Given the description of an element on the screen output the (x, y) to click on. 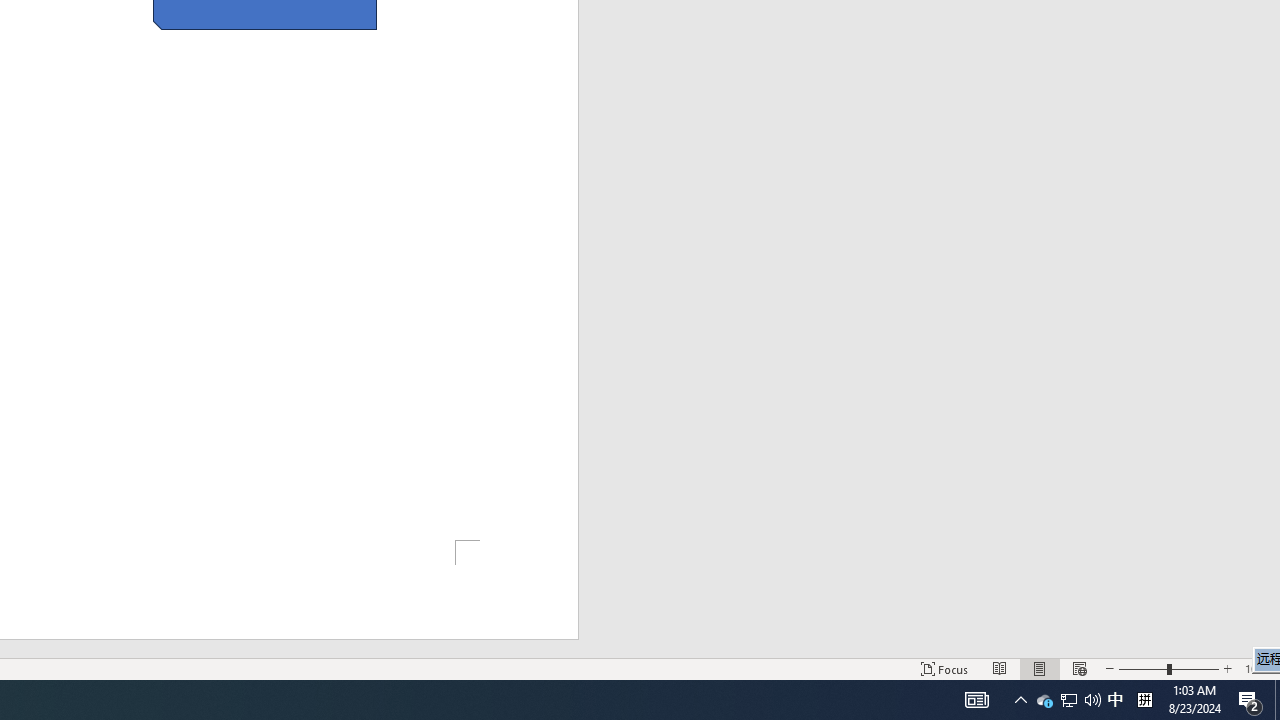
Zoom 104% (1258, 668)
